Given the description of an element on the screen output the (x, y) to click on. 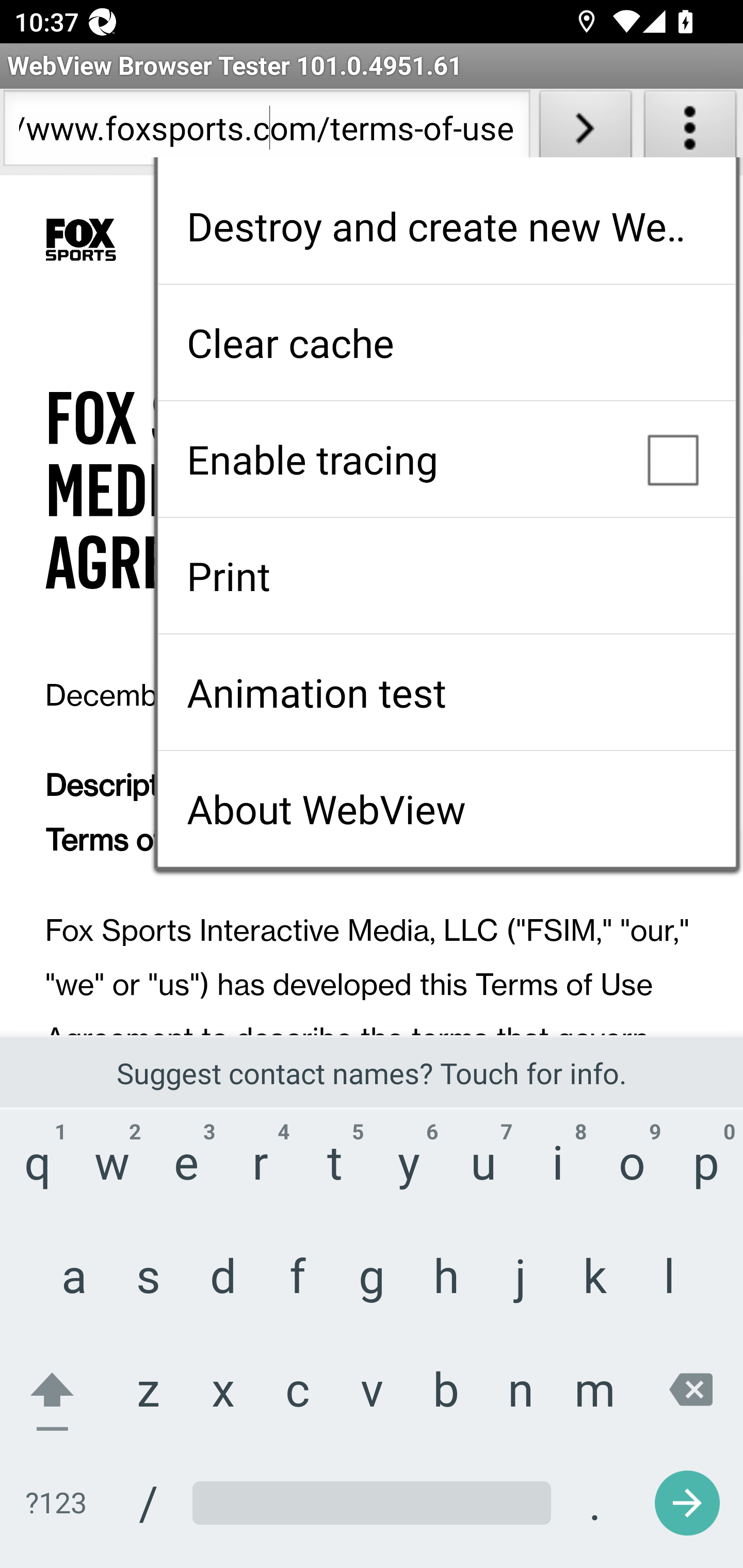
Destroy and create new WebView (446, 225)
Clear cache (446, 342)
Enable tracing (446, 459)
Print (446, 575)
Animation test (446, 692)
About WebView (446, 809)
